Given the description of an element on the screen output the (x, y) to click on. 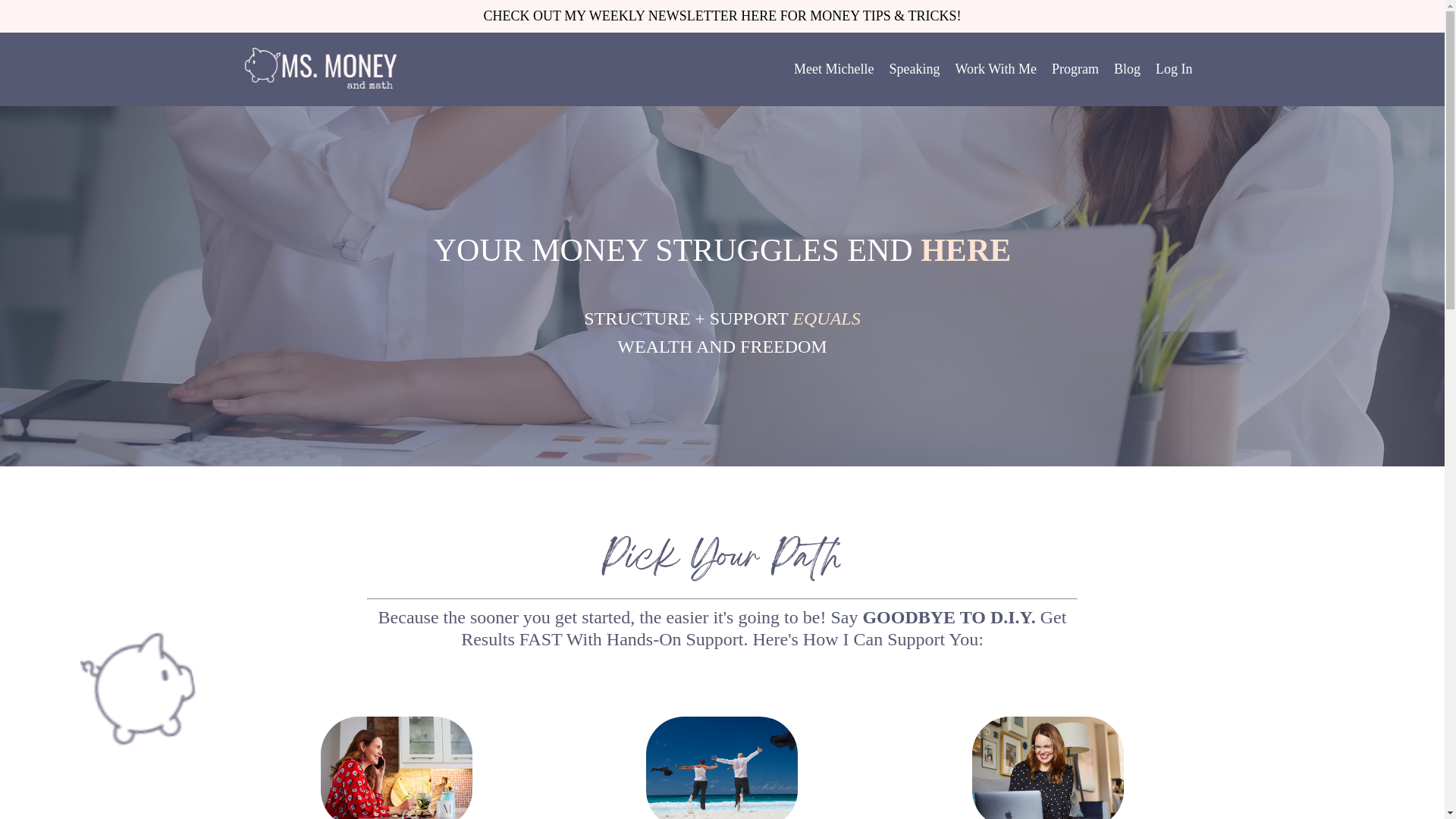
Blog (1126, 68)
Speaking (913, 68)
Meet Michelle (833, 68)
Work With Me (995, 68)
Log In (1174, 68)
Program (1075, 68)
